Given the description of an element on the screen output the (x, y) to click on. 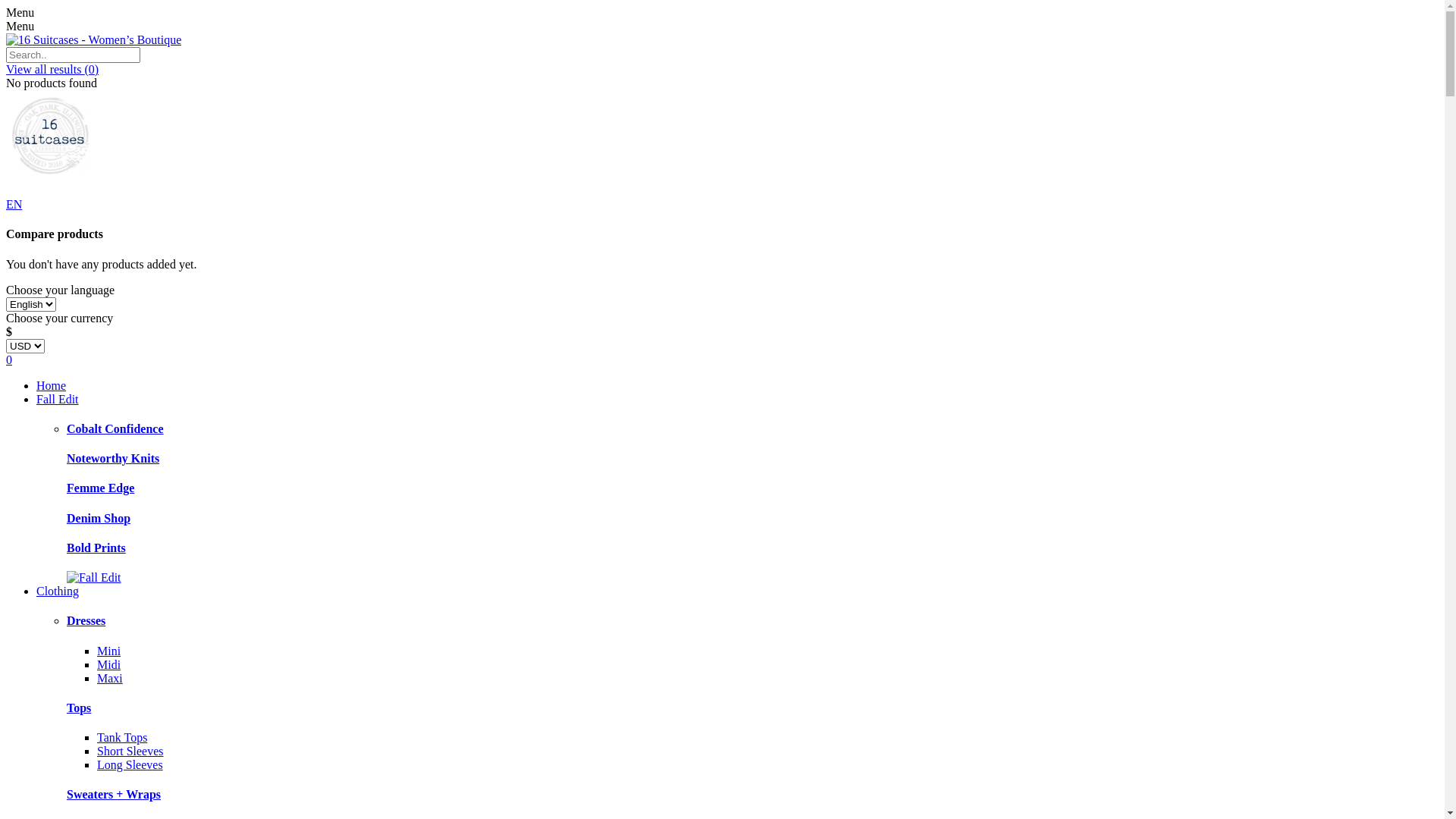
Short Sleeves Element type: text (130, 750)
Denim Shop Element type: text (98, 517)
Dresses Element type: text (85, 620)
Bold Prints Element type: text (95, 547)
Mini Element type: text (108, 650)
Femme Edge Element type: text (100, 487)
Sweaters + Wraps Element type: text (113, 793)
View all results (0) Element type: text (52, 68)
Home Element type: text (50, 385)
Noteworthy Knits Element type: text (112, 457)
Clothing Element type: text (57, 590)
Maxi Element type: text (109, 677)
Long Sleeves Element type: text (130, 764)
0 Element type: text (722, 360)
Tank Tops Element type: text (122, 737)
EN Element type: text (13, 203)
Midi Element type: text (108, 664)
Cobalt Confidence Element type: text (114, 428)
Fall Edit Element type: text (57, 398)
Tops Element type: text (78, 707)
